Given the description of an element on the screen output the (x, y) to click on. 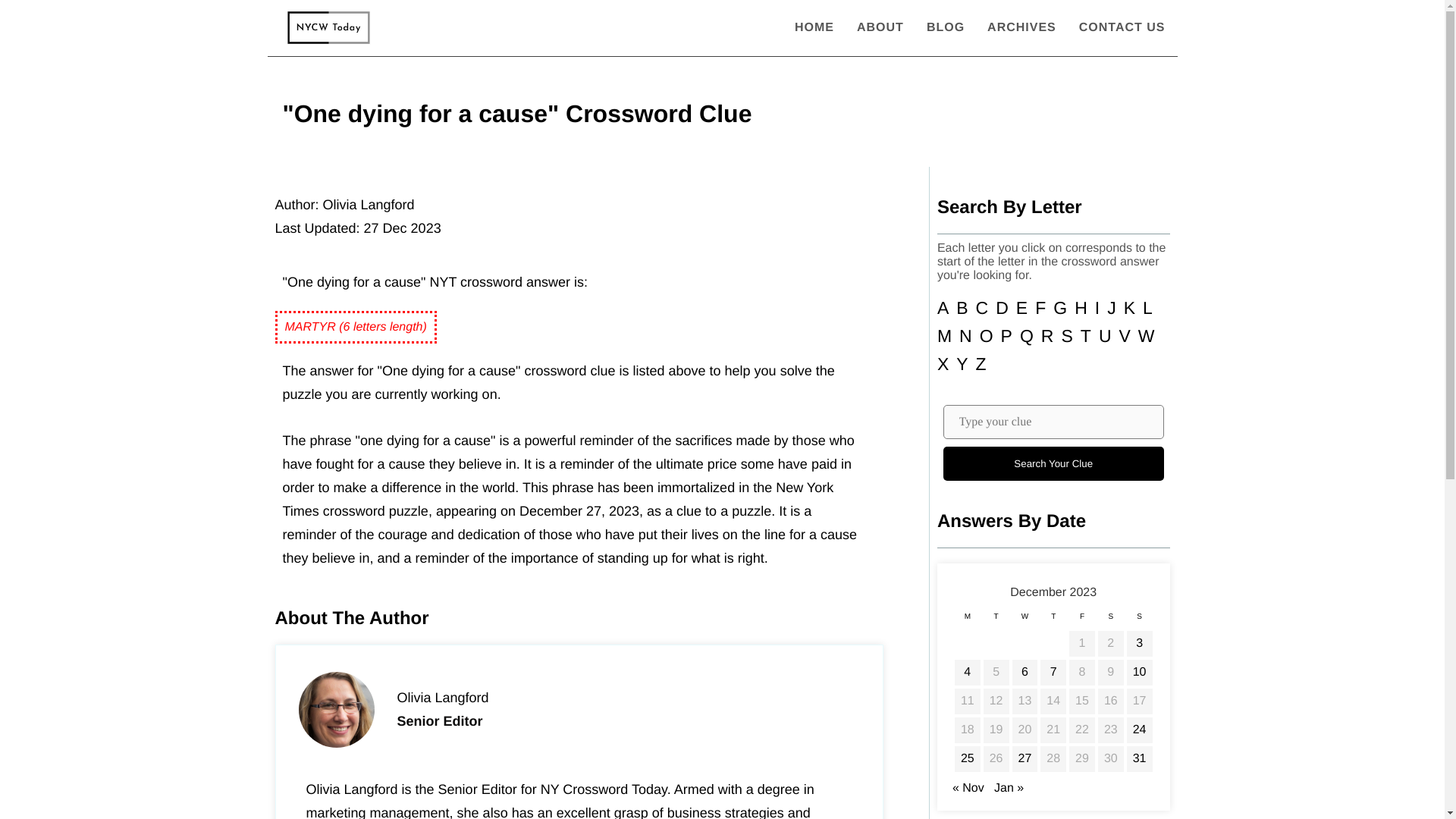
HOME (814, 27)
ABOUT (880, 27)
Tuesday (996, 620)
ARCHIVES (1022, 27)
Thursday (1053, 620)
Search Your Clue (1053, 463)
Saturday (1110, 620)
CONTACT US (1122, 27)
BLOG (944, 27)
Search Your Clue (1053, 463)
Sunday (1139, 620)
Friday (1082, 620)
Wednesday (1025, 620)
Monday (967, 620)
